Given the description of an element on the screen output the (x, y) to click on. 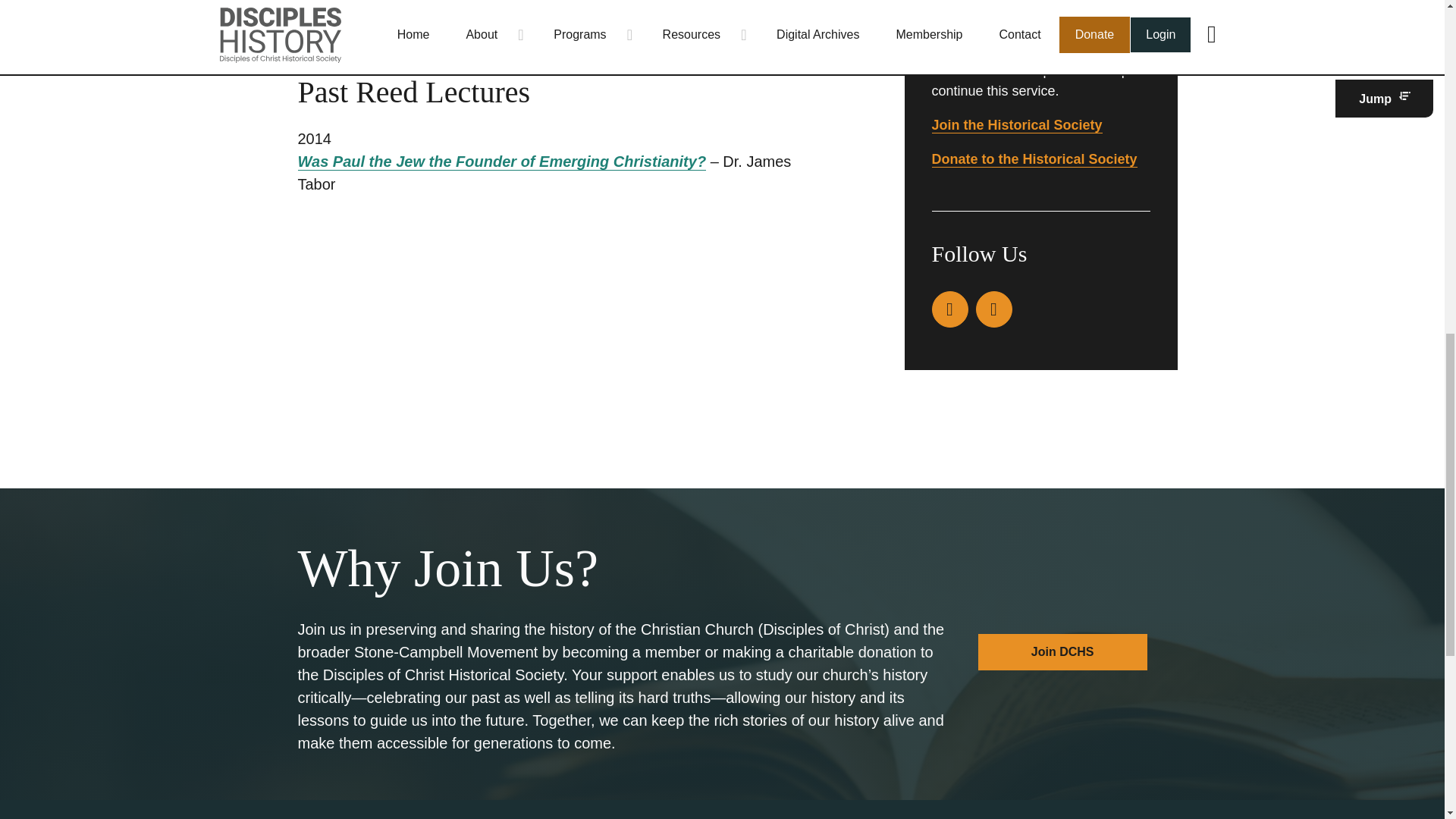
Instagram (993, 309)
Facebook (949, 309)
